Given the description of an element on the screen output the (x, y) to click on. 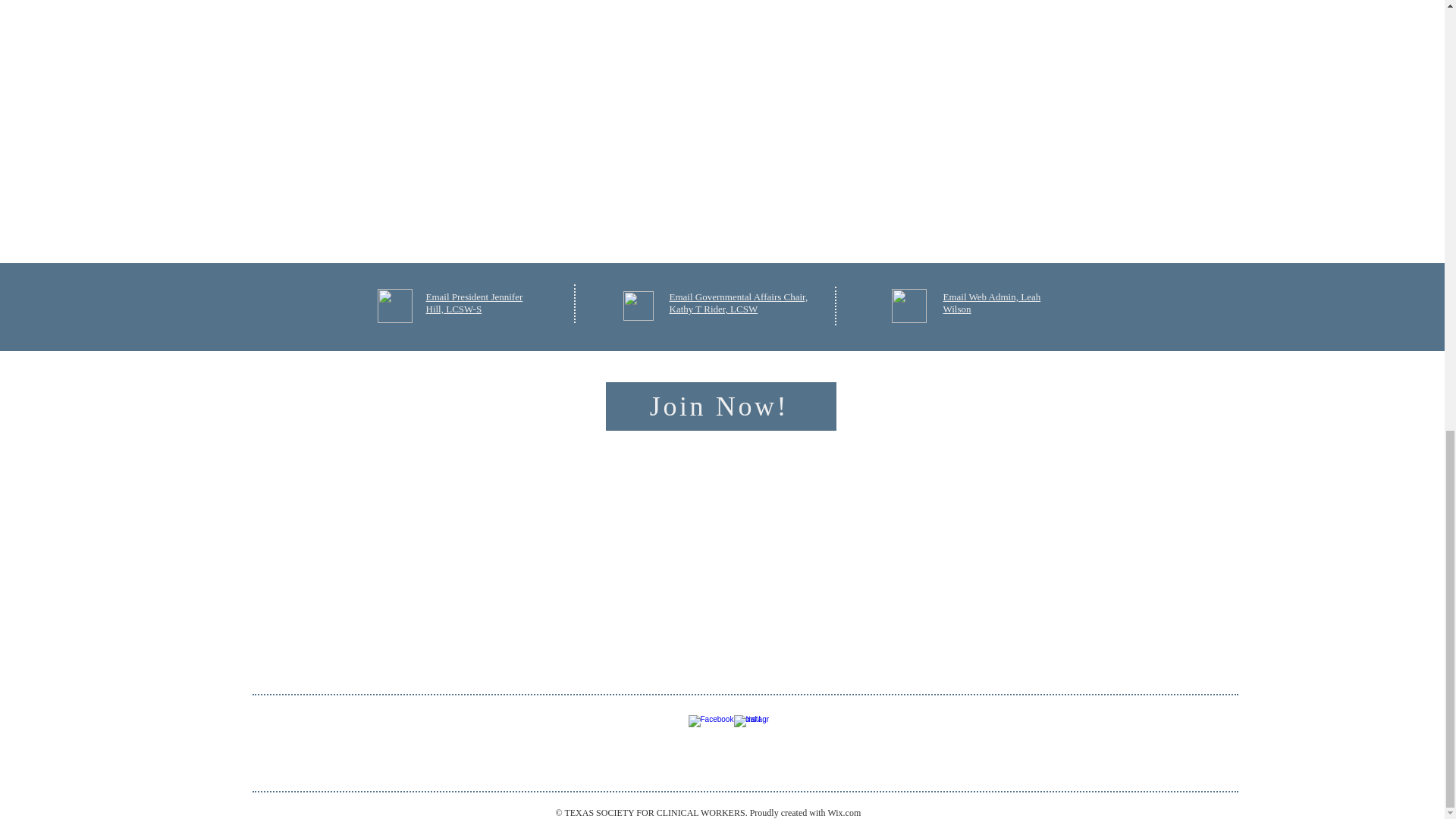
Join Now! (720, 406)
Wix.com (843, 812)
Email President Jennifer Hill, LCSW-S (474, 302)
Email Governmental Affairs Chair, Kathy T Rider, LCSW (738, 302)
Email Web Admin, Leah Wilson (992, 302)
